Given the description of an element on the screen output the (x, y) to click on. 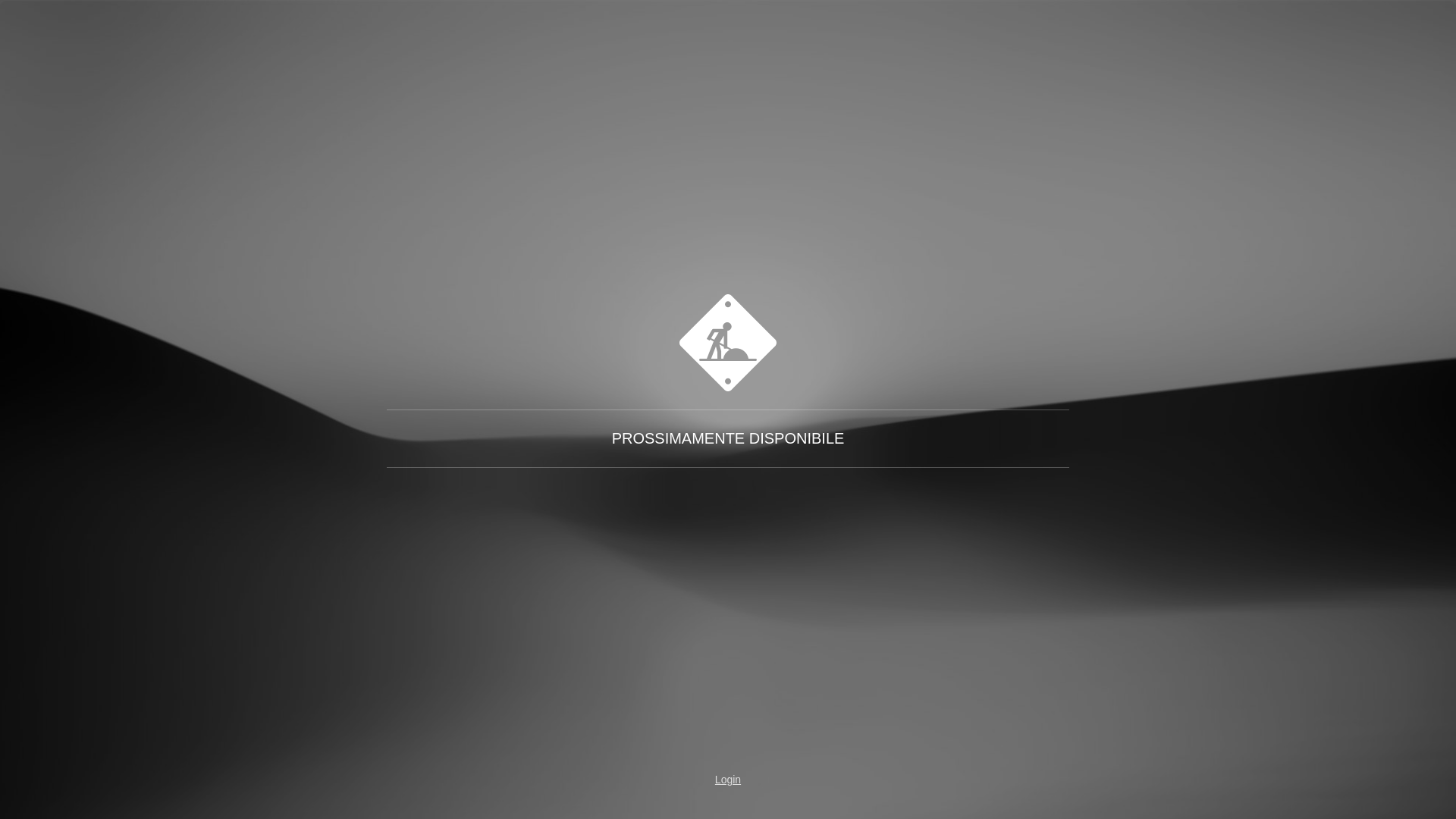
Login Element type: text (727, 779)
